Given the description of an element on the screen output the (x, y) to click on. 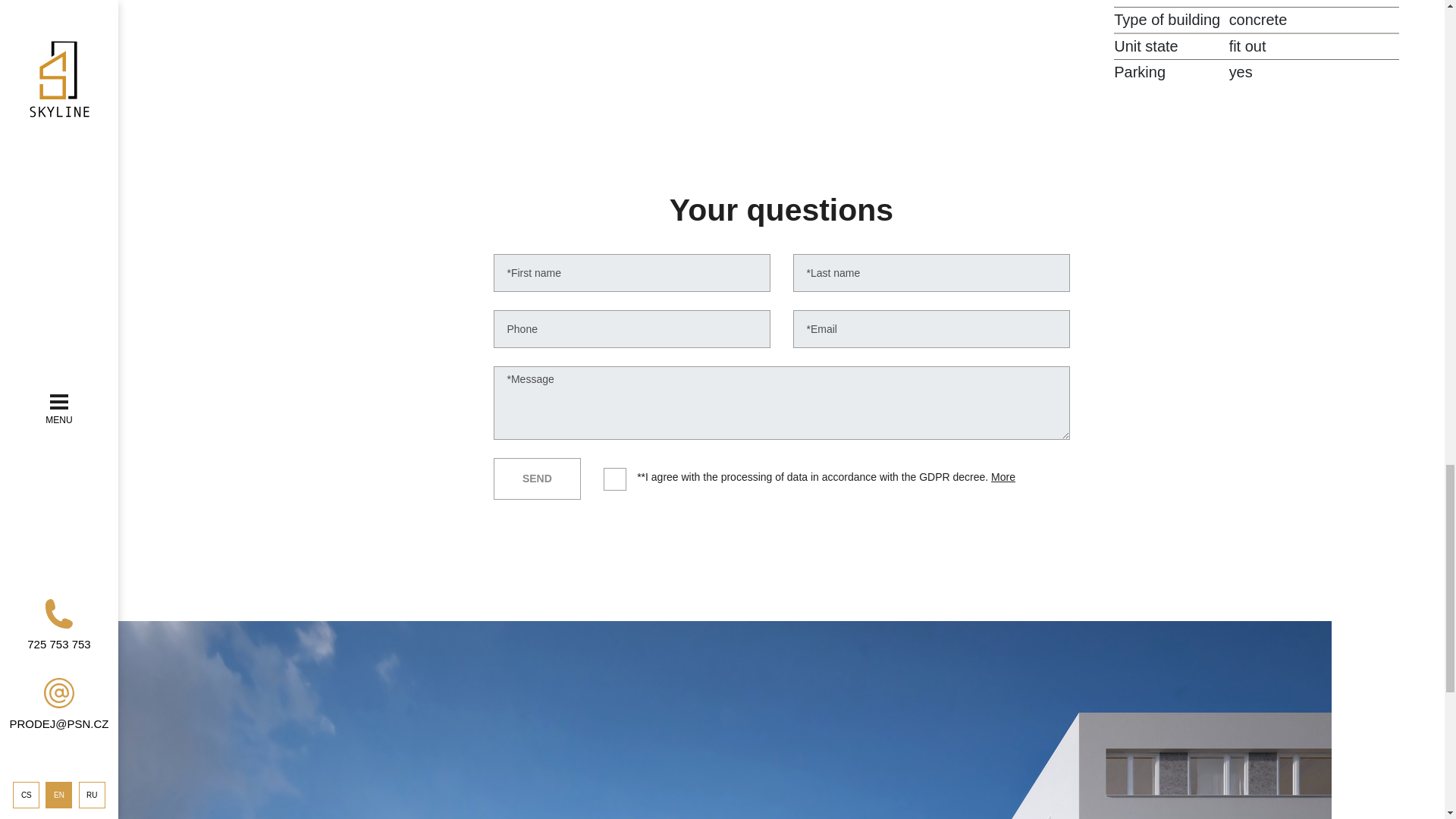
Send (536, 478)
Send (536, 478)
More (1002, 476)
